Given the description of an element on the screen output the (x, y) to click on. 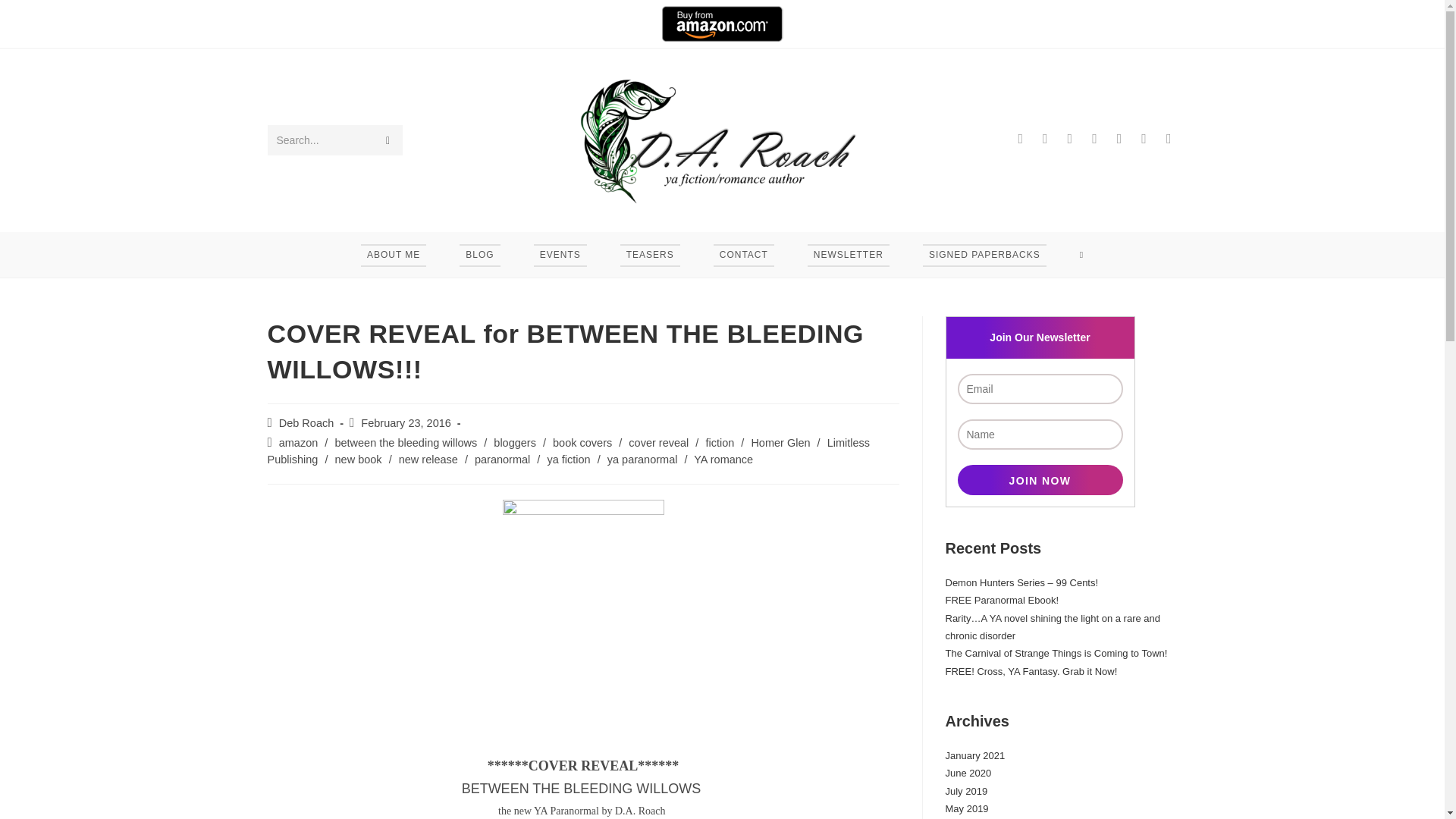
Submit search (386, 140)
Deb Roach (306, 422)
NEWSLETTER (847, 254)
Posts by Deb Roach (306, 422)
Join Now (1039, 480)
amazon (298, 442)
SIGNED PAPERBACKS (983, 254)
ABOUT ME (392, 254)
BLOG (479, 254)
TEASERS (650, 254)
